Given the description of an element on the screen output the (x, y) to click on. 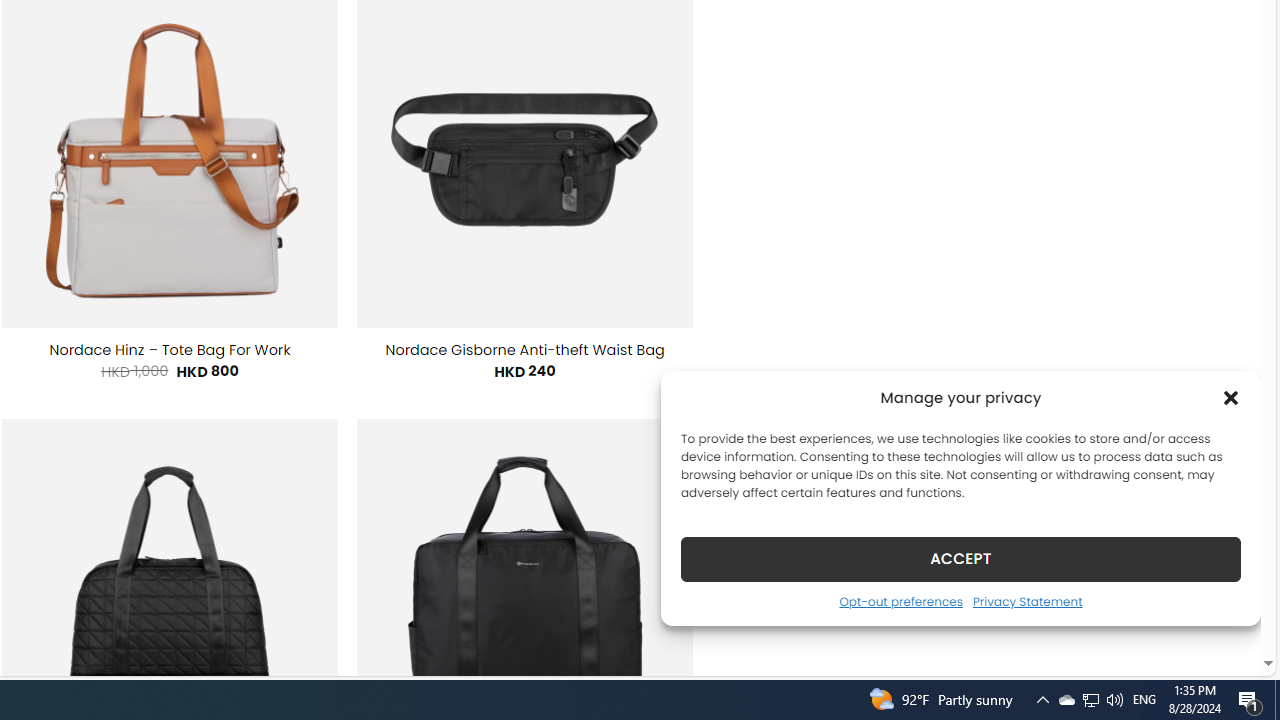
Class: cmplz-close (1231, 397)
ACCEPT (960, 558)
Opt-out preferences (900, 601)
Nordace Gisborne Anti-theft Waist Bag (525, 350)
Privacy Statement (1026, 601)
